Given the description of an element on the screen output the (x, y) to click on. 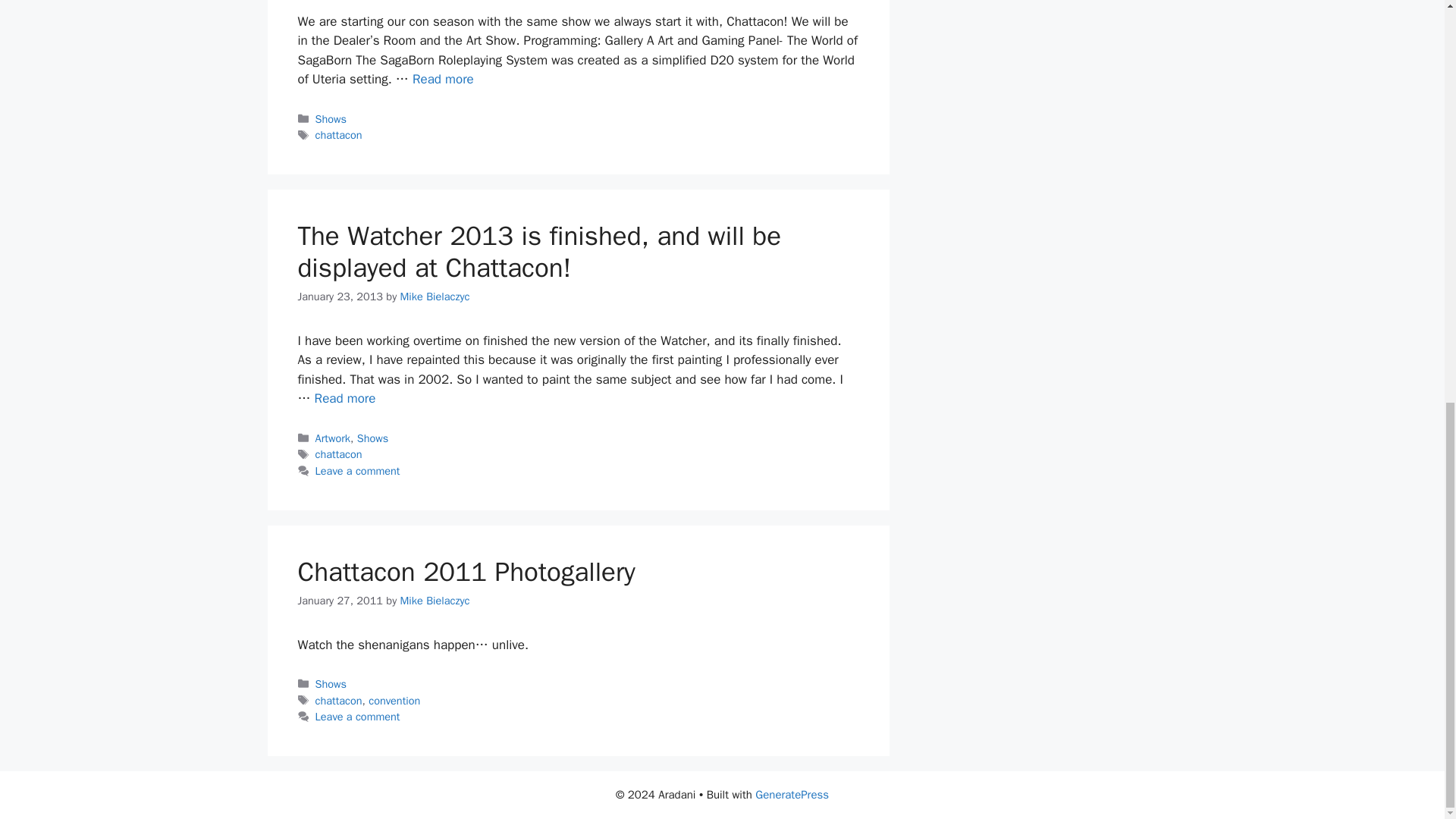
chattacon (338, 454)
Read more (443, 78)
Mike Bielaczyc (435, 600)
View all posts by Mike Bielaczyc (435, 600)
Chattacon here we come! (443, 78)
convention (394, 700)
chattacon (338, 700)
chattacon (338, 134)
Mike Bielaczyc (435, 296)
Chattacon 2011 Photogallery (465, 571)
Read more (344, 398)
Leave a comment (357, 470)
Shows (331, 119)
